Given the description of an element on the screen output the (x, y) to click on. 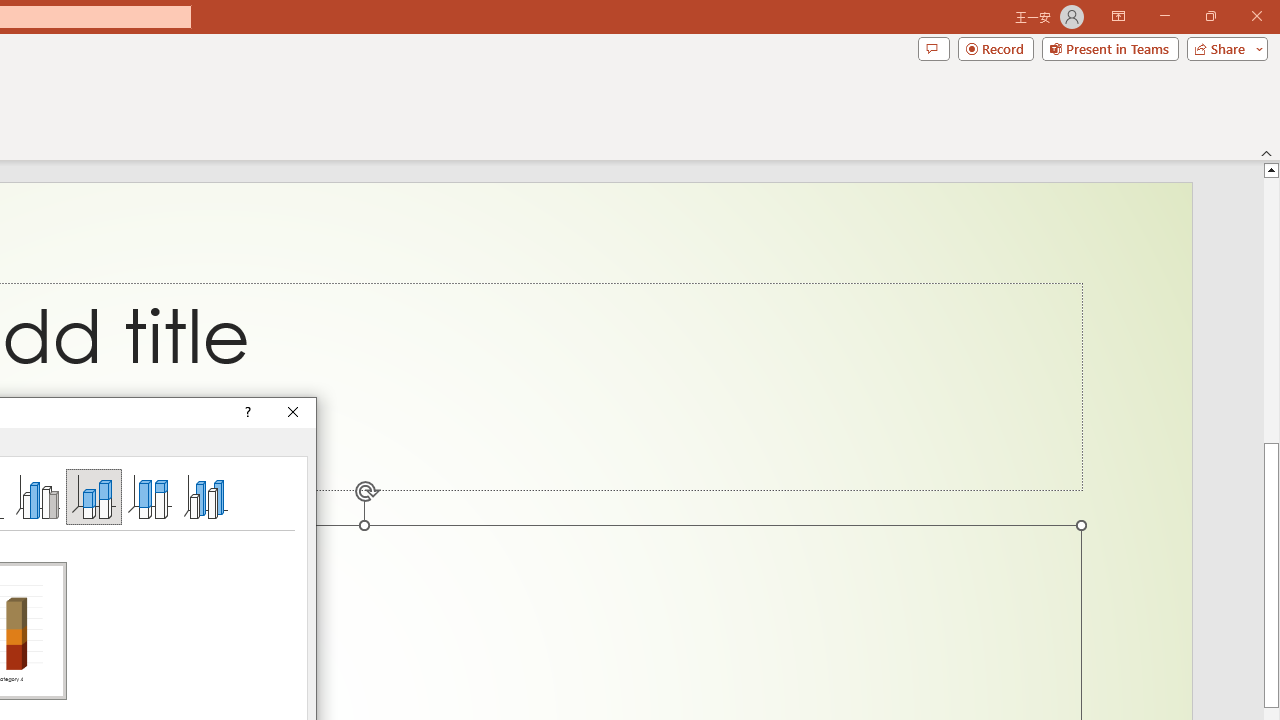
3-D Clustered Column (38, 496)
3-D Stacked Column (93, 496)
3-D 100% Stacked Column (149, 496)
3-D Column (205, 496)
